Given the description of an element on the screen output the (x, y) to click on. 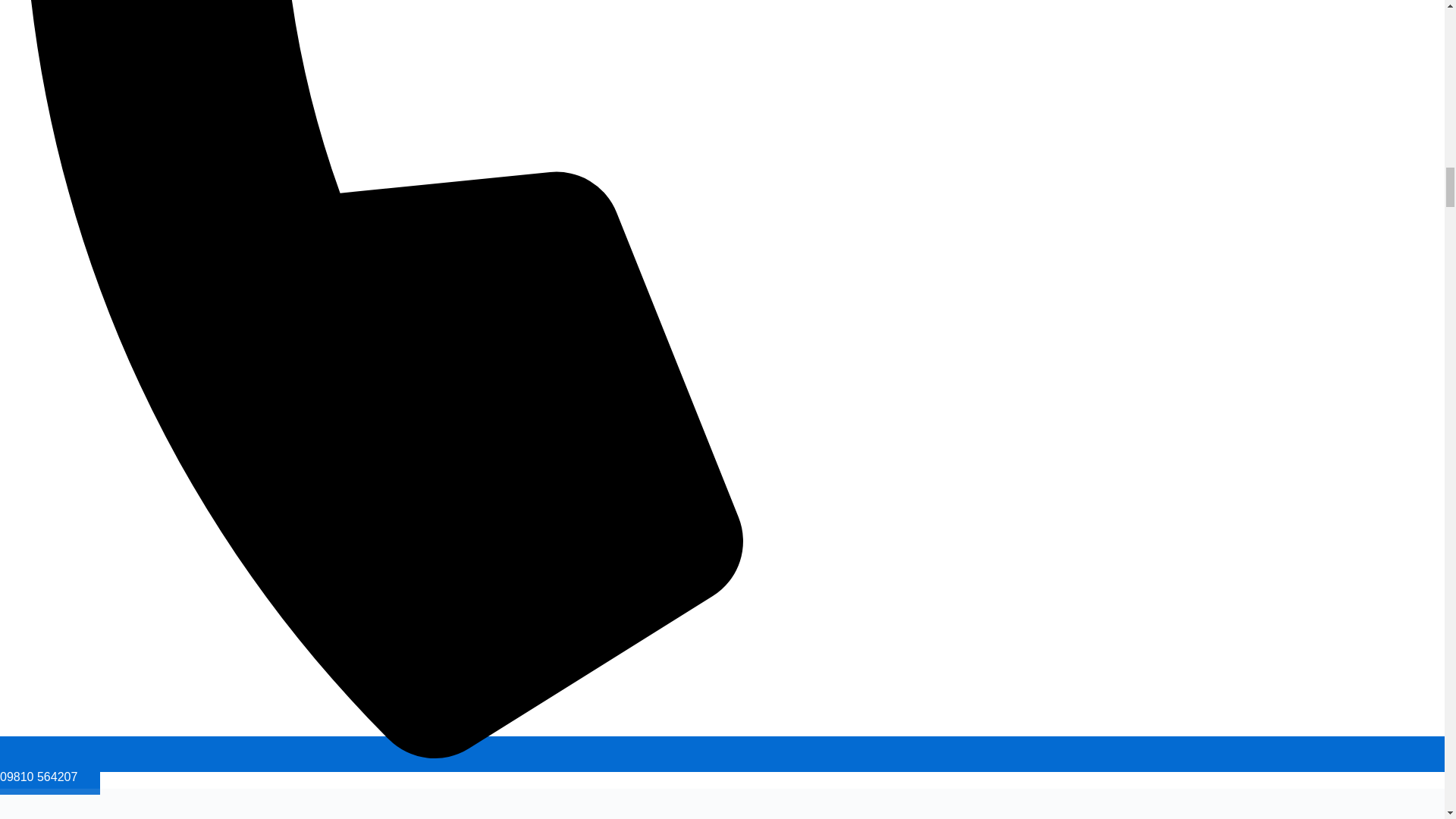
09810 564207 (728, 765)
